Given the description of an element on the screen output the (x, y) to click on. 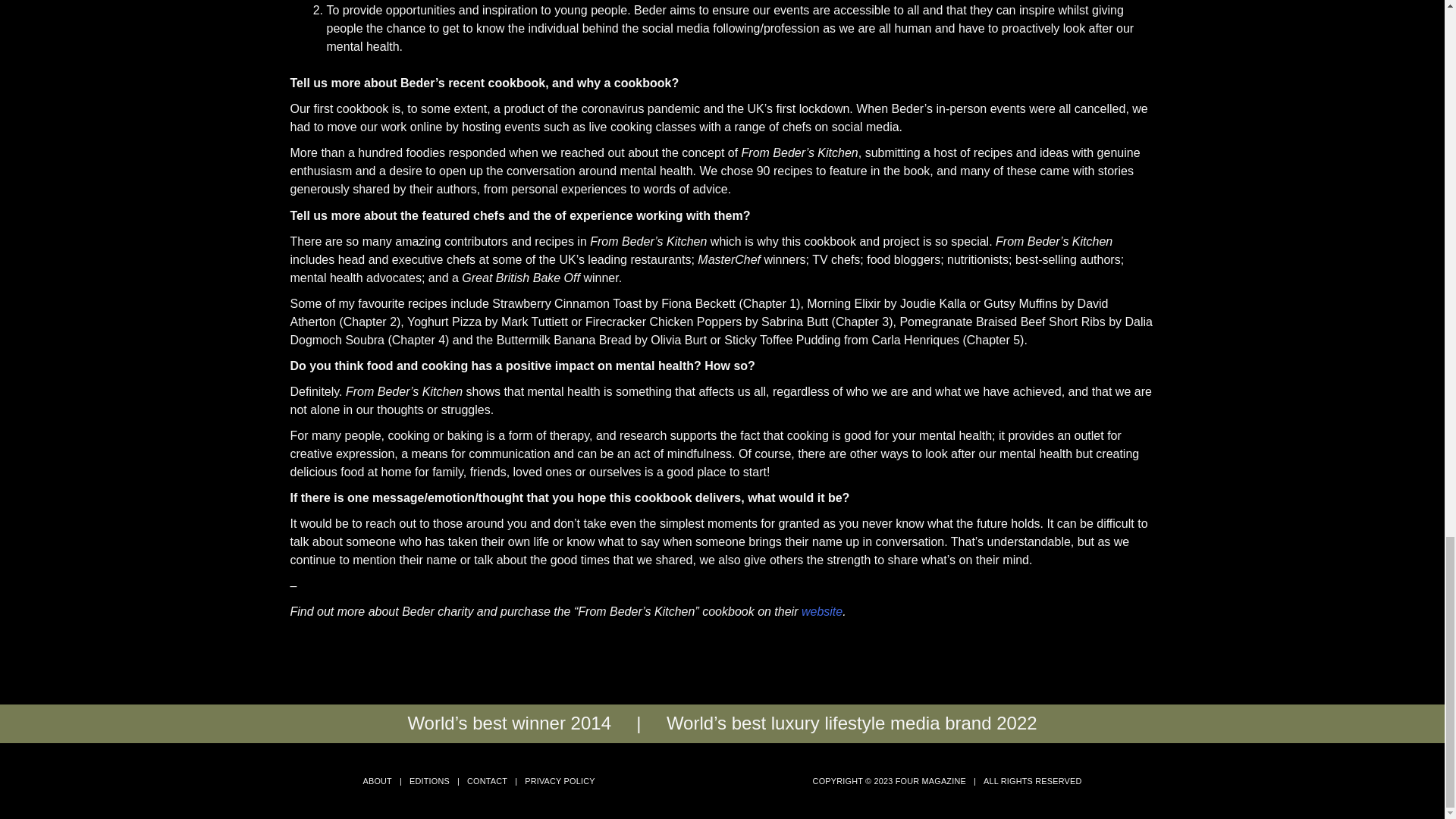
PRIVACY POLICY (559, 780)
ABOUT (376, 780)
EDITIONS (429, 780)
website (822, 611)
CONTACT (486, 780)
